Given the description of an element on the screen output the (x, y) to click on. 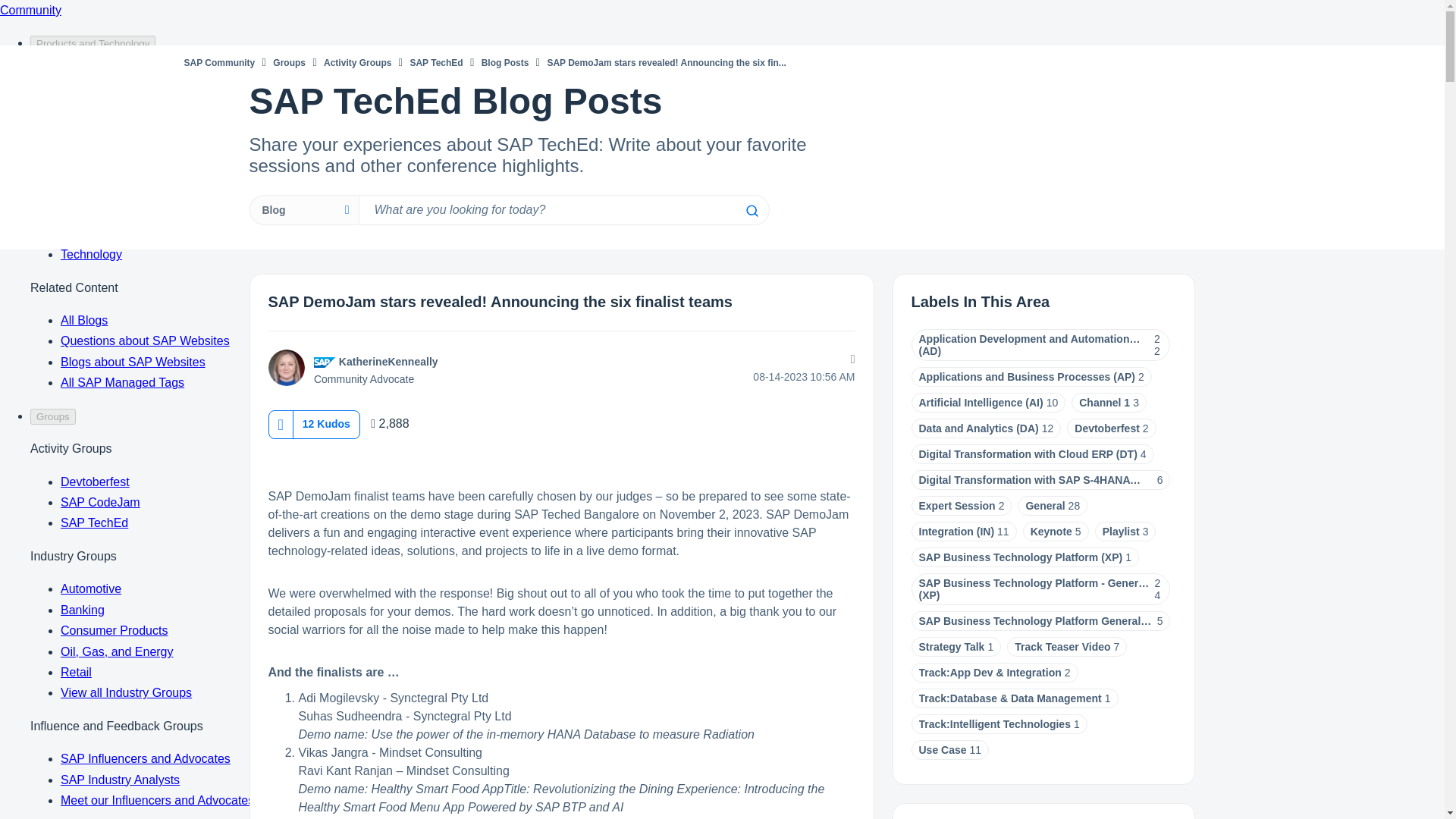
Groups (289, 62)
12 Kudos (326, 423)
Community Advocate (325, 362)
Search (750, 210)
Search Granularity (303, 209)
SAP TechEd (436, 62)
Blog Posts (505, 62)
KatherineKenneally (388, 361)
Posted on (757, 377)
KatherineKenneally (285, 367)
Search (750, 210)
Activity Groups (357, 62)
SAP Community (218, 62)
Click here to see who gave kudos to this post. (326, 423)
